Given the description of an element on the screen output the (x, y) to click on. 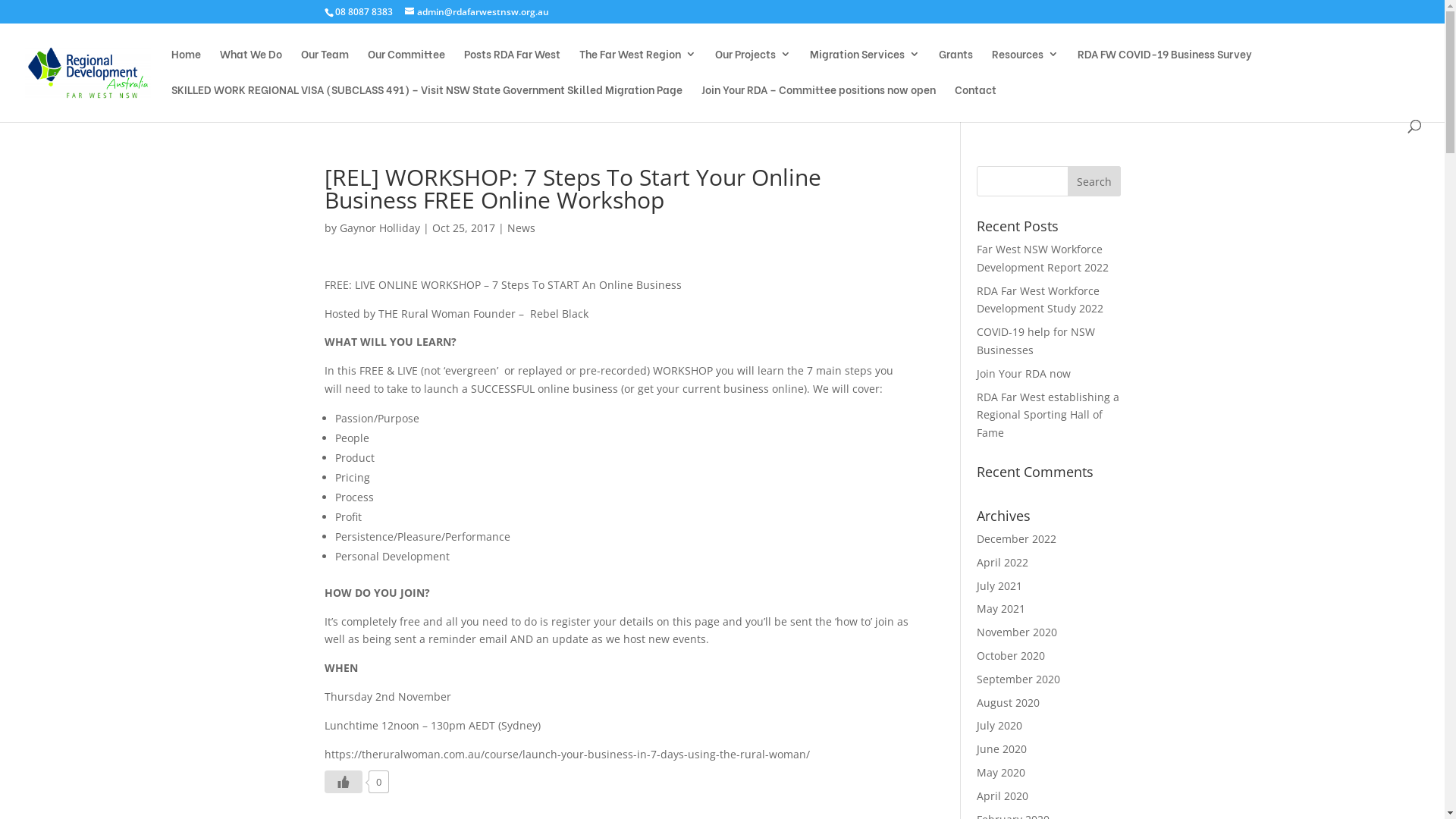
August 2020 Element type: text (1007, 702)
July 2021 Element type: text (999, 585)
July 2020 Element type: text (999, 725)
November 2020 Element type: text (1016, 631)
News Element type: text (520, 227)
Our Committee Element type: text (406, 66)
May 2020 Element type: text (1000, 772)
Posts RDA Far West Element type: text (512, 66)
Our Projects Element type: text (752, 66)
RDA Far West Workforce Development Study 2022 Element type: text (1039, 299)
April 2022 Element type: text (1002, 562)
RDA Far West establishing a Regional Sporting Hall of Fame Element type: text (1047, 414)
Home Element type: text (185, 66)
June 2020 Element type: text (1001, 748)
October 2020 Element type: text (1010, 655)
COVID-19 help for NSW Businesses Element type: text (1035, 340)
Join Your RDA now Element type: text (1023, 373)
Search Element type: text (1093, 181)
Grants Element type: text (955, 66)
The Far West Region Element type: text (637, 66)
RDA FW COVID-19 Business Survey Element type: text (1164, 66)
Resources Element type: text (1024, 66)
Gaynor Holliday Element type: text (379, 227)
December 2022 Element type: text (1016, 538)
September 2020 Element type: text (1018, 678)
Contact Element type: text (975, 101)
Our Team Element type: text (324, 66)
April 2020 Element type: text (1002, 795)
May 2021 Element type: text (1000, 608)
What We Do Element type: text (250, 66)
Migration Services Element type: text (864, 66)
Far West NSW Workforce Development Report 2022 Element type: text (1042, 257)
admin@rdafarwestnsw.org.au Element type: text (476, 11)
